Given the description of an element on the screen output the (x, y) to click on. 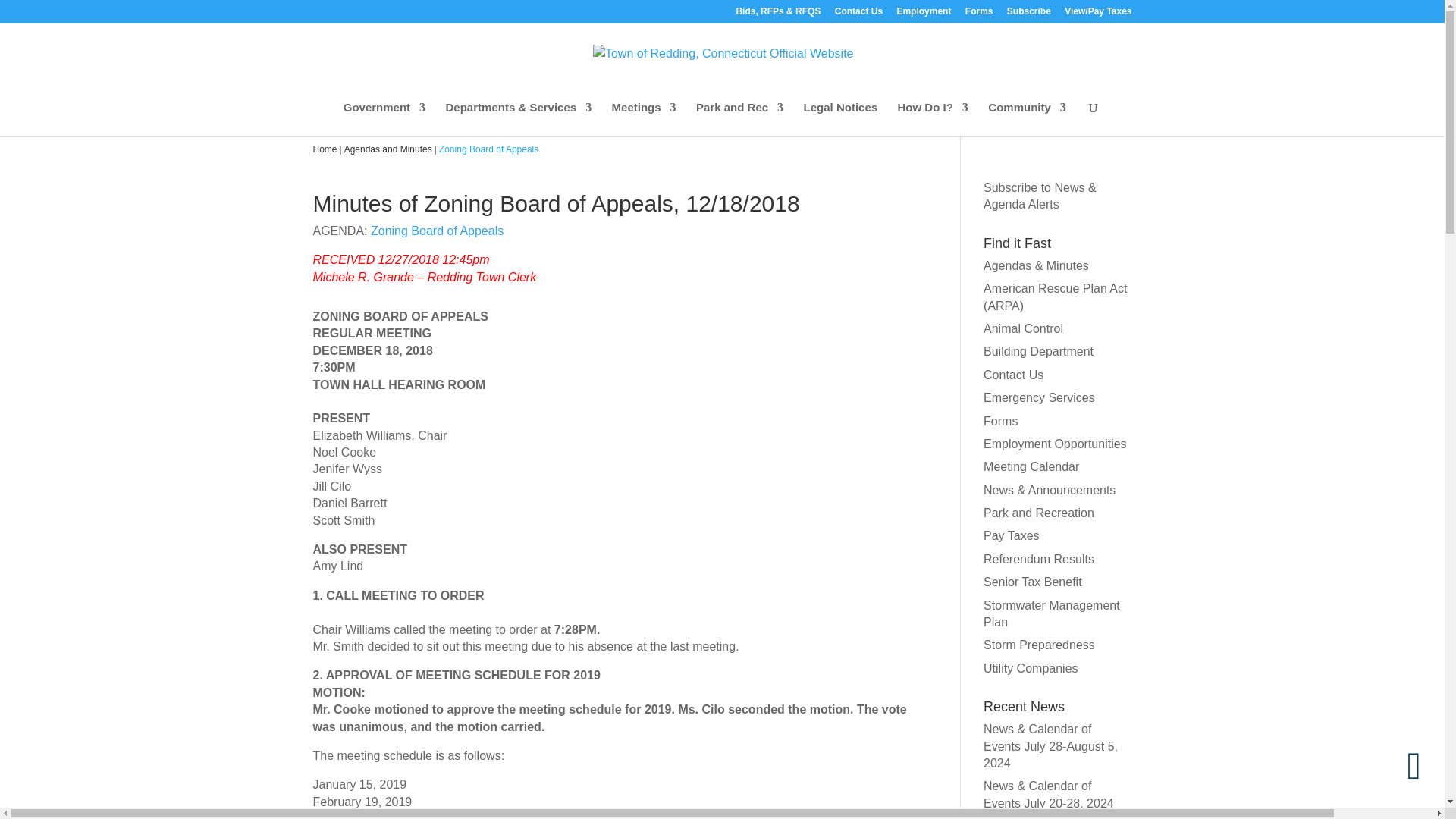
Forms (978, 14)
Government (384, 118)
Employment (923, 14)
Go to Agendas and Minutes. (387, 149)
Subscribe (1029, 14)
Contact Us (858, 14)
Go to Town of Redding, Connecticut Official Website. (324, 149)
